Given the description of an element on the screen output the (x, y) to click on. 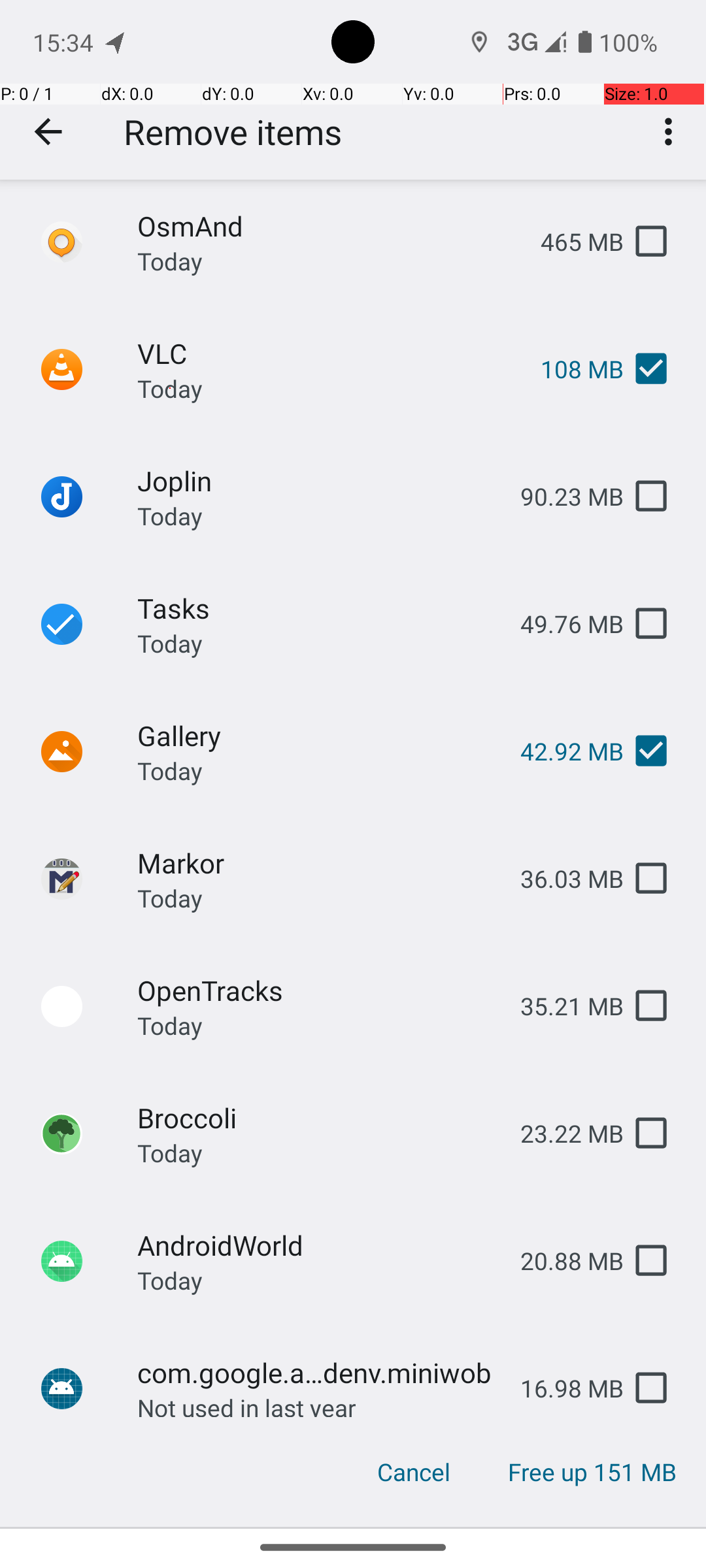
Remove items Element type: android.widget.TextView (232, 131)
Free up 151 MB Element type: android.widget.Button (592, 1471)
465 MB Element type: android.widget.TextView (571, 241)
108 MB Element type: android.widget.TextView (571, 368)
90.23 MB Element type: android.widget.TextView (561, 495)
49.76 MB Element type: android.widget.TextView (561, 623)
42.92 MB Element type: android.widget.TextView (561, 750)
36.03 MB Element type: android.widget.TextView (561, 878)
35.21 MB Element type: android.widget.TextView (561, 1005)
23.22 MB Element type: android.widget.TextView (561, 1132)
AndroidWorld Element type: android.widget.TextView (318, 1244)
20.88 MB Element type: android.widget.TextView (561, 1260)
com.google.androidenv.miniwob Element type: android.widget.TextView (318, 1371)
Not used in last year Element type: android.widget.TextView (246, 1403)
16.98 MB Element type: android.widget.TextView (561, 1387)
